Given the description of an element on the screen output the (x, y) to click on. 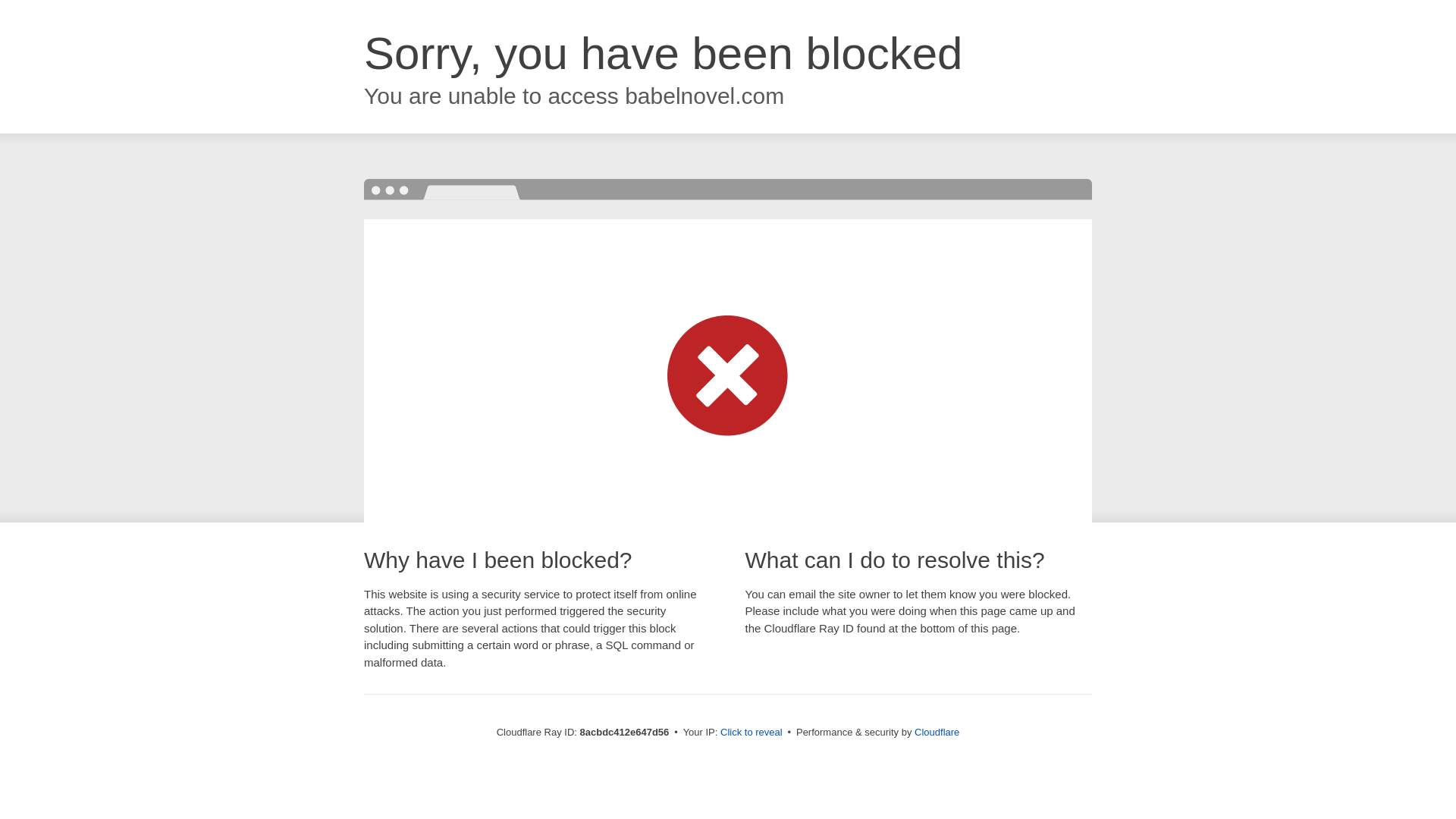
Cloudflare (936, 731)
Click to reveal (751, 732)
